Given the description of an element on the screen output the (x, y) to click on. 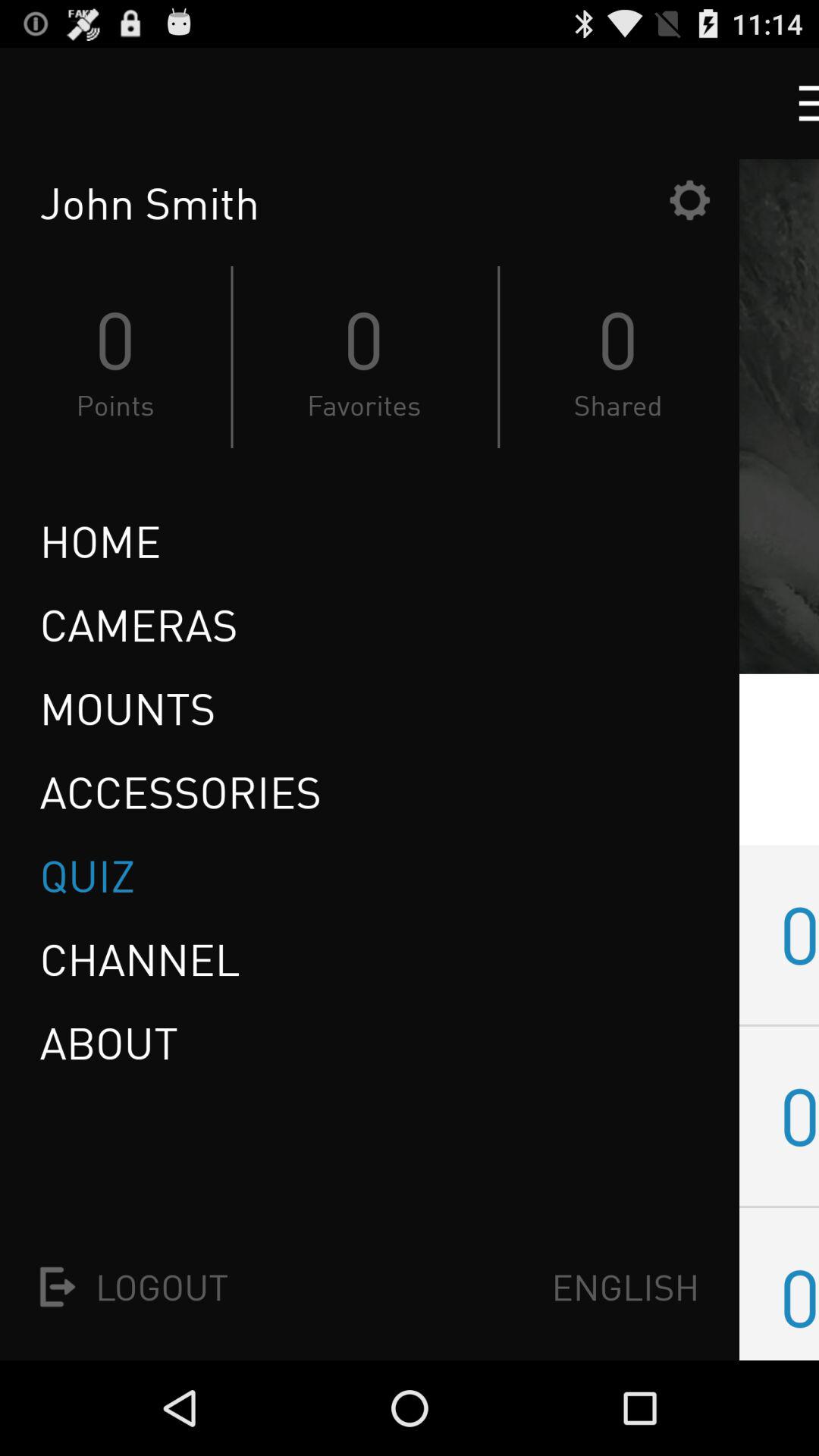
swipe until the mounts icon (127, 708)
